Given the description of an element on the screen output the (x, y) to click on. 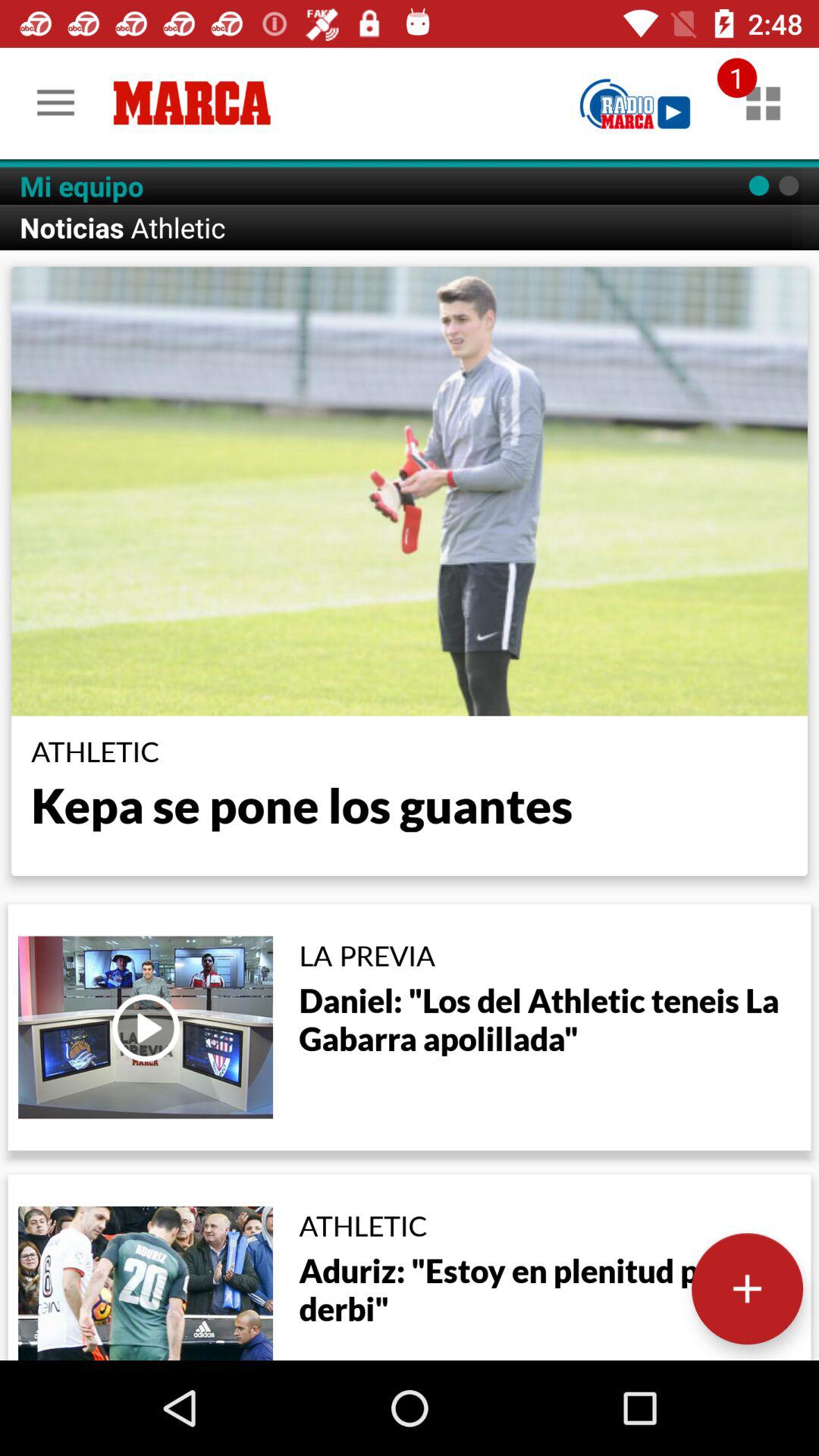
select item next to mi equipo (635, 103)
